Given the description of an element on the screen output the (x, y) to click on. 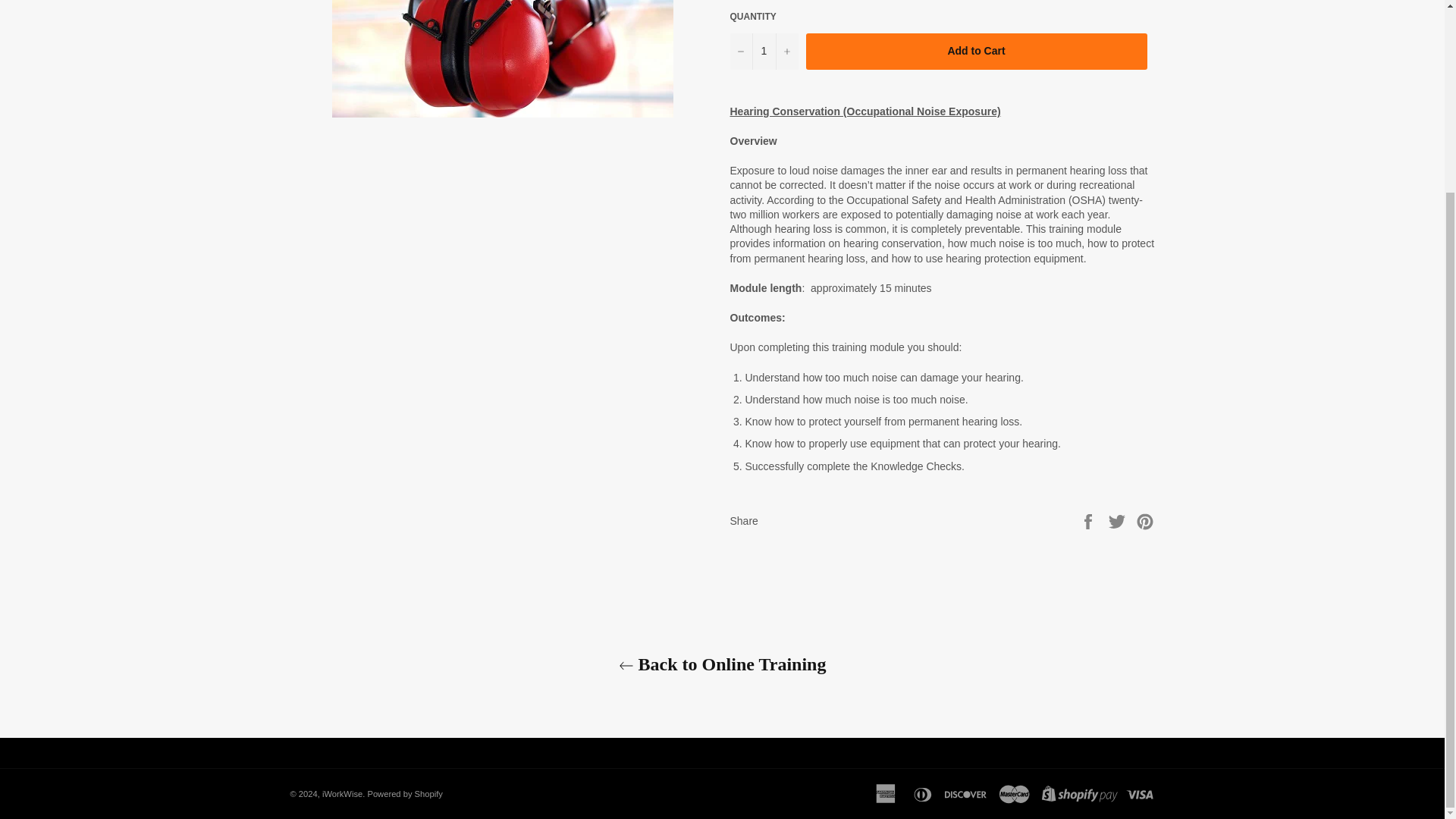
Pin on Pinterest (1144, 521)
iWorkWise (341, 793)
Pin on Pinterest (1144, 521)
1 (763, 51)
Tweet on Twitter (1118, 521)
Share on Facebook (1089, 521)
Share on Facebook (1089, 521)
Powered by Shopify (404, 793)
Back to Online Training (721, 664)
Tweet on Twitter (1118, 521)
Add to Cart (976, 51)
